Given the description of an element on the screen output the (x, y) to click on. 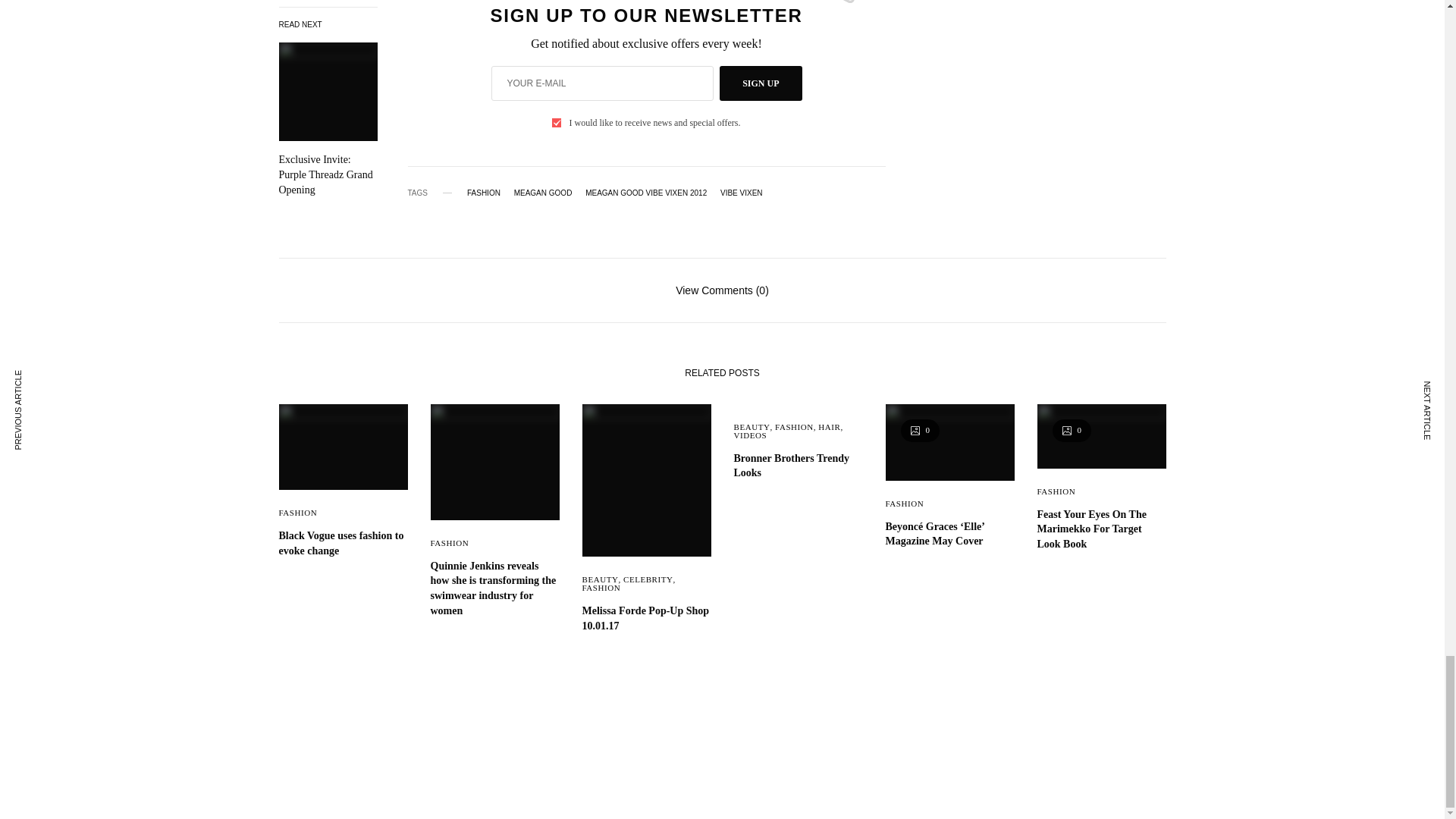
FASHION (298, 511)
Black Vogue uses fashion to evoke change (343, 542)
Melissa Forde Pop-Up Shop 10.01.17 (646, 618)
Black Vogue uses fashion to evoke change (343, 542)
SIGN UP (760, 83)
FASHION (449, 542)
FASHION (483, 193)
BEAUTY (600, 578)
FASHION (601, 587)
VIBE VIXEN (741, 193)
MEAGAN GOOD VIBE VIXEN 2012 (645, 193)
MEAGAN GOOD (542, 193)
CELEBRITY (647, 578)
